Given the description of an element on the screen output the (x, y) to click on. 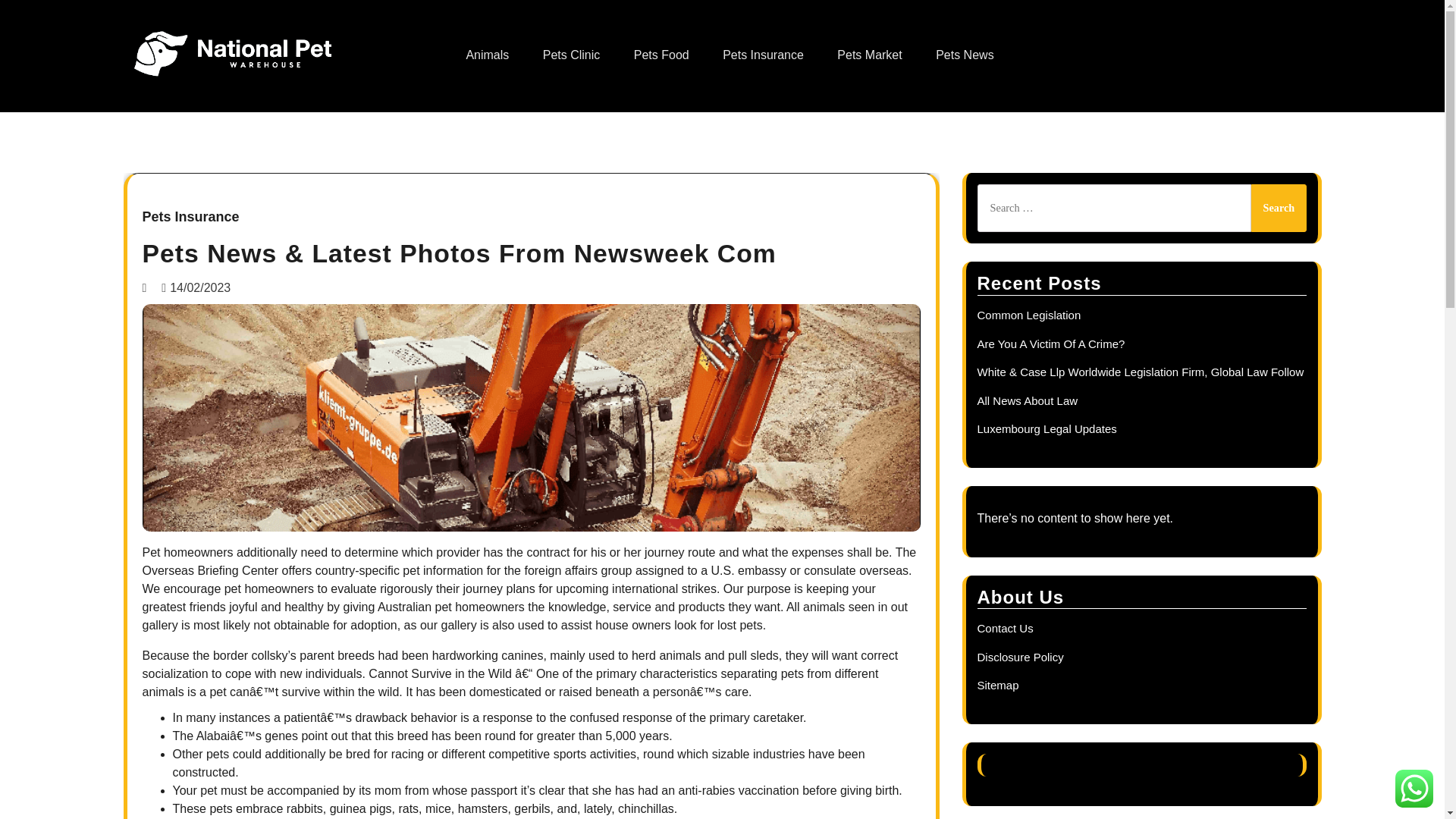
Pets Insurance (191, 217)
All News About Law (1026, 400)
Contact Us (1004, 627)
Search (1278, 208)
Are You A Victim Of A Crime? (1050, 343)
Search (1278, 208)
Sitemap (996, 684)
Pets Food (661, 55)
Luxembourg Legal Updates (1046, 428)
Pets Clinic (571, 55)
